Given the description of an element on the screen output the (x, y) to click on. 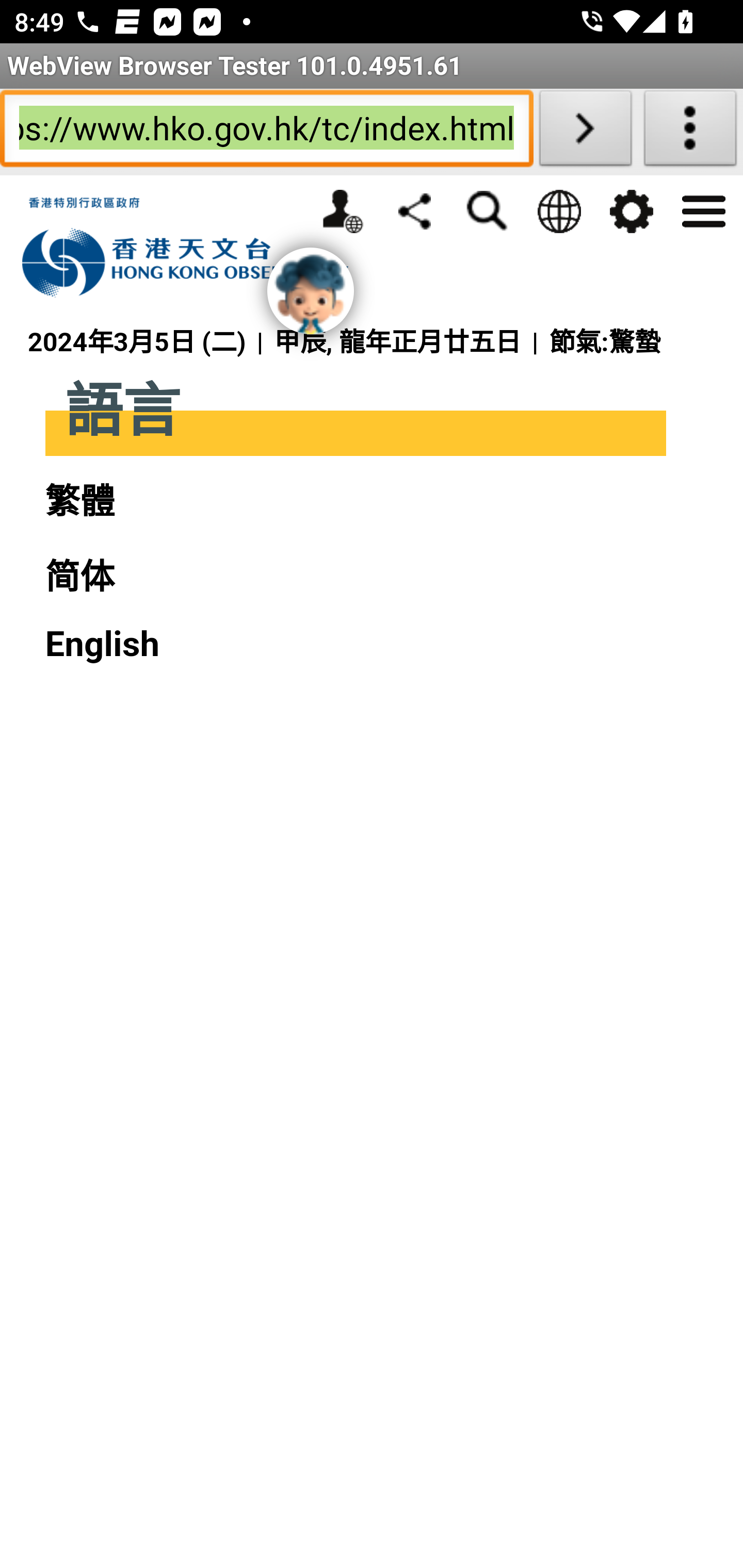
https://www.hko.gov.hk/tc/index.html (266, 132)
Load URL (585, 132)
About WebView (690, 132)
香港天文台 (195, 247)
個人版網站 個人版網站 (341, 211)
搜尋 搜尋 (486, 211)
語言 語言 (558, 211)
分享 分享 (414, 210)
選單 選單 (703, 209)
與「度天隊長」聊天 (311, 291)
繁體 (79, 501)
简体 (79, 577)
English (101, 644)
